Given the description of an element on the screen output the (x, y) to click on. 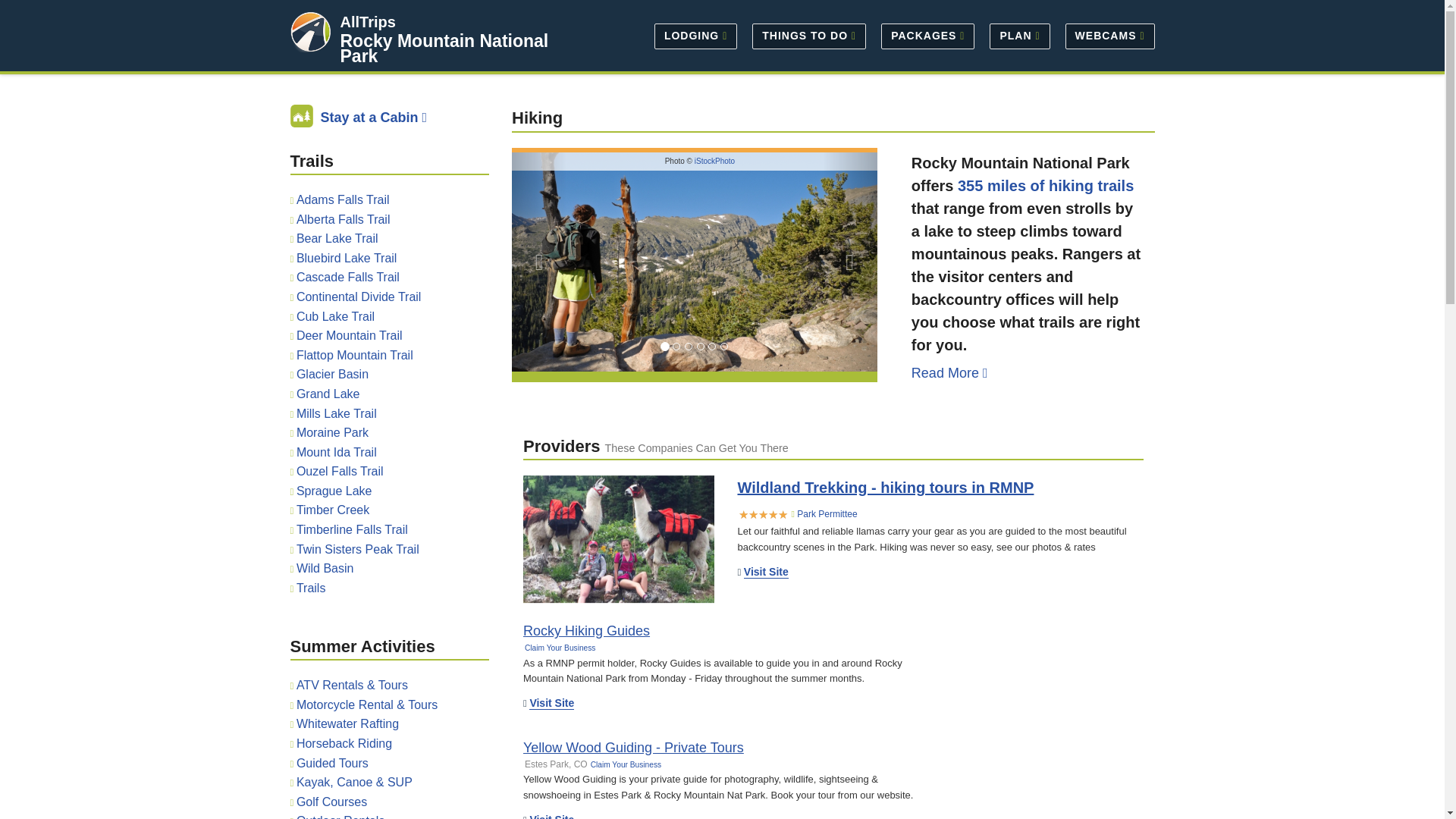
AllTrips (366, 21)
iStockPhoto (714, 161)
PLAN (1019, 35)
WEBCAMS (1106, 35)
THINGS TO DO (808, 35)
Rocky Mountain National Park (443, 48)
LODGING (695, 35)
PACKAGES (927, 35)
